Given the description of an element on the screen output the (x, y) to click on. 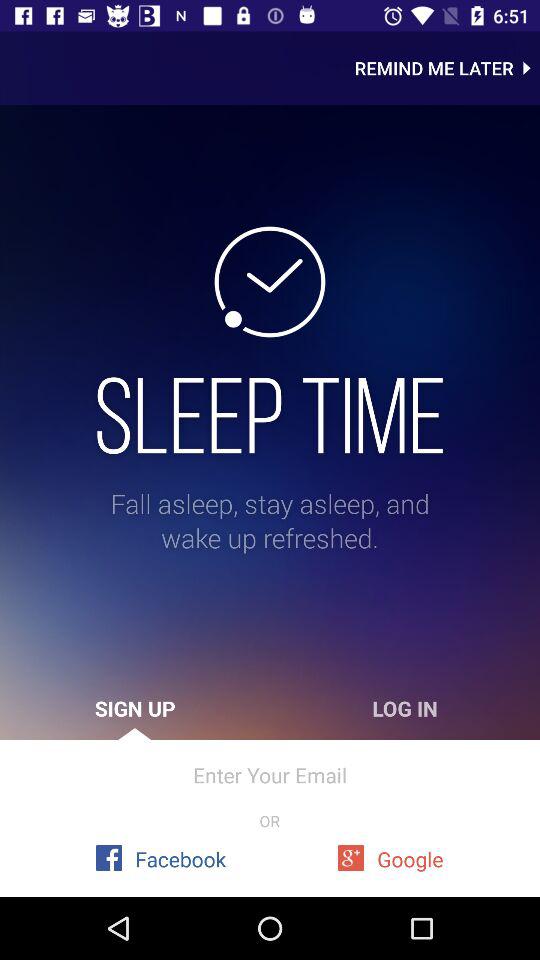
turn off the enter your email (270, 774)
